Given the description of an element on the screen output the (x, y) to click on. 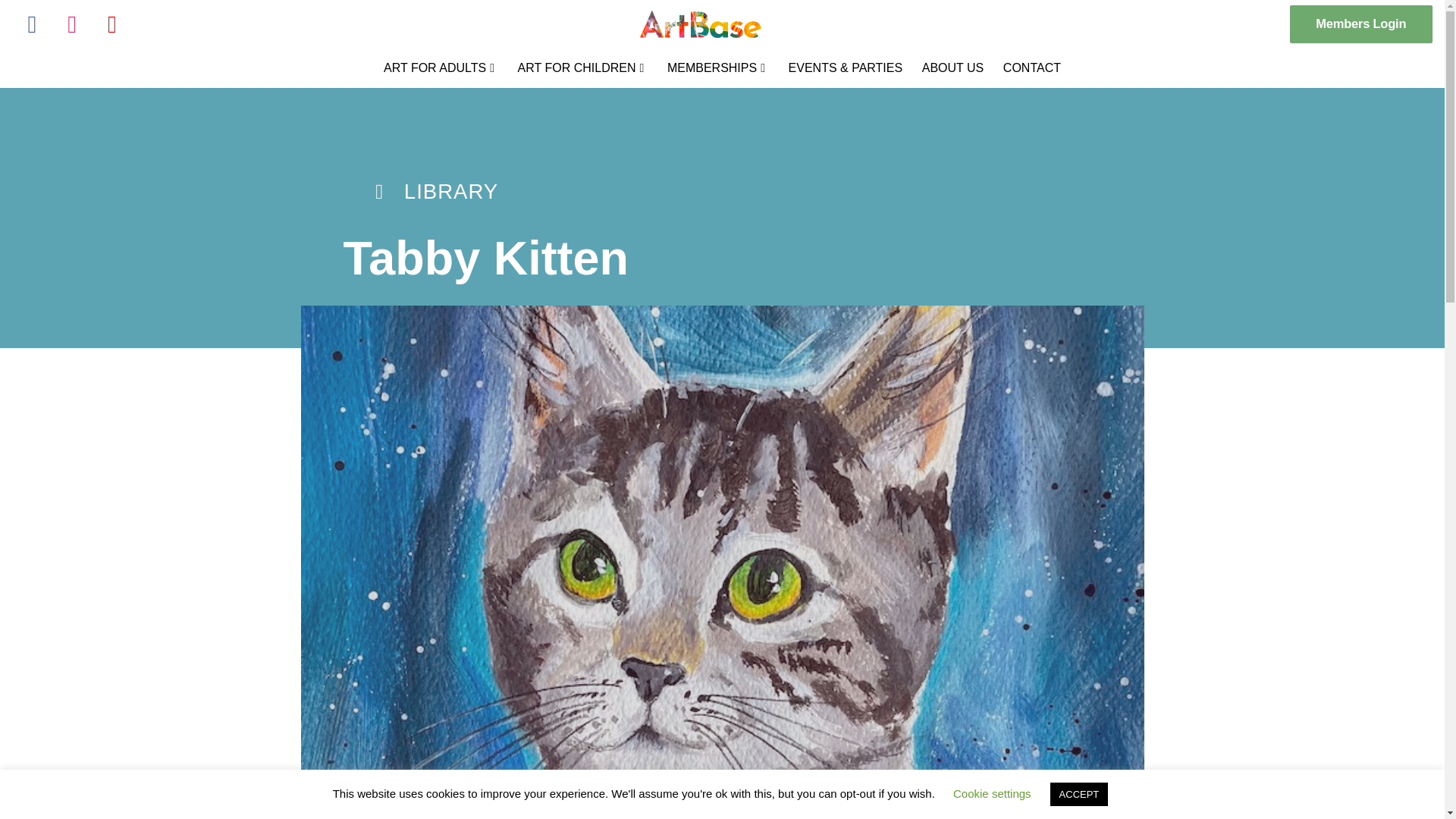
ABOUT US (952, 68)
MEMBERSHIPS (718, 67)
ART FOR CHILDREN (583, 67)
Members Login (1361, 23)
CONTACT (1031, 68)
LIBRARY (433, 191)
ART FOR ADULTS (441, 67)
